Given the description of an element on the screen output the (x, y) to click on. 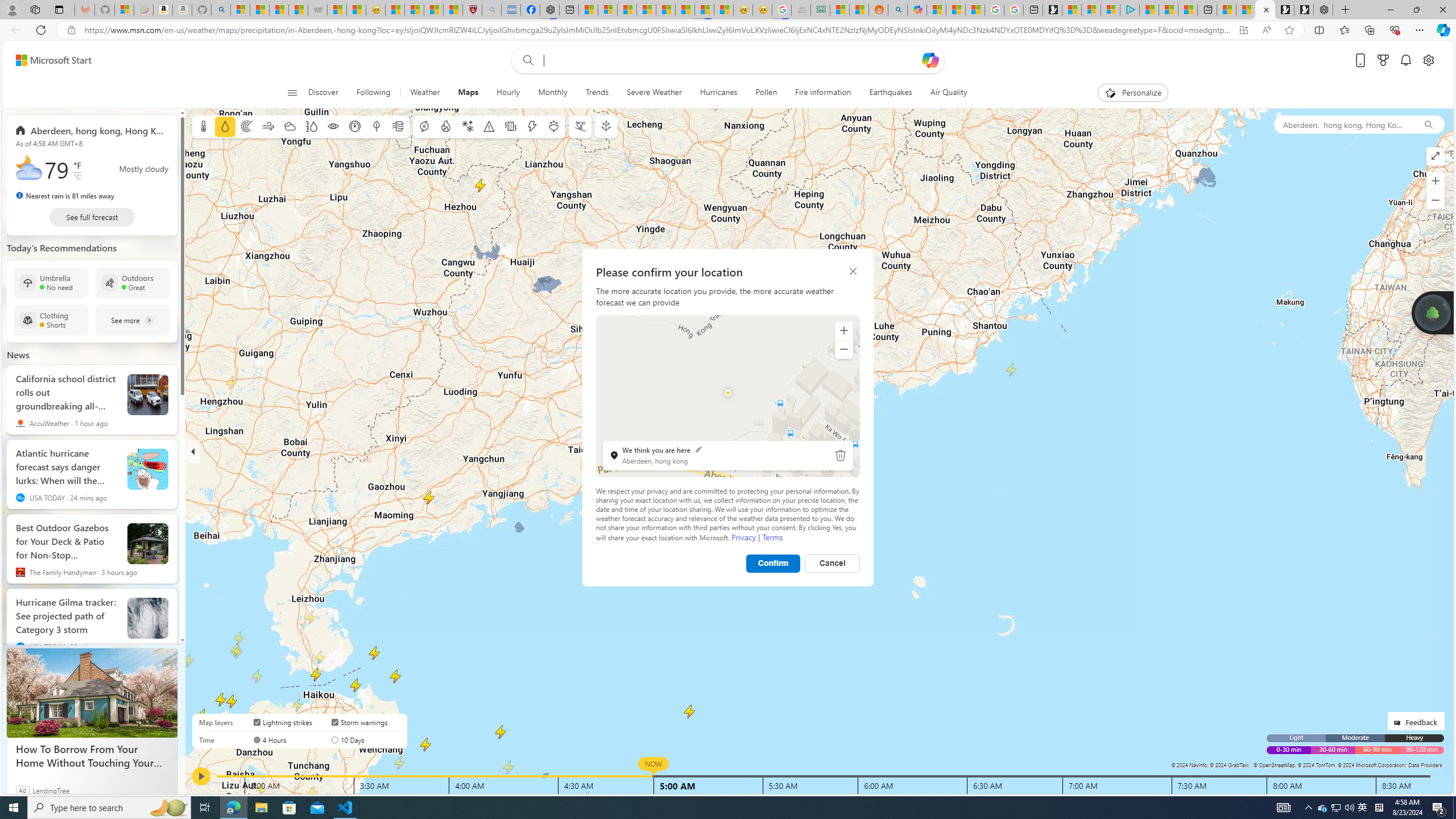
The Family Handyman (20, 571)
Severe Weather (654, 92)
Weather (424, 92)
Skip to footer (46, 59)
Enter your search term (730, 59)
Radar (246, 126)
Precipitation (225, 126)
Microsoft Start Gaming (1052, 9)
